Given the description of an element on the screen output the (x, y) to click on. 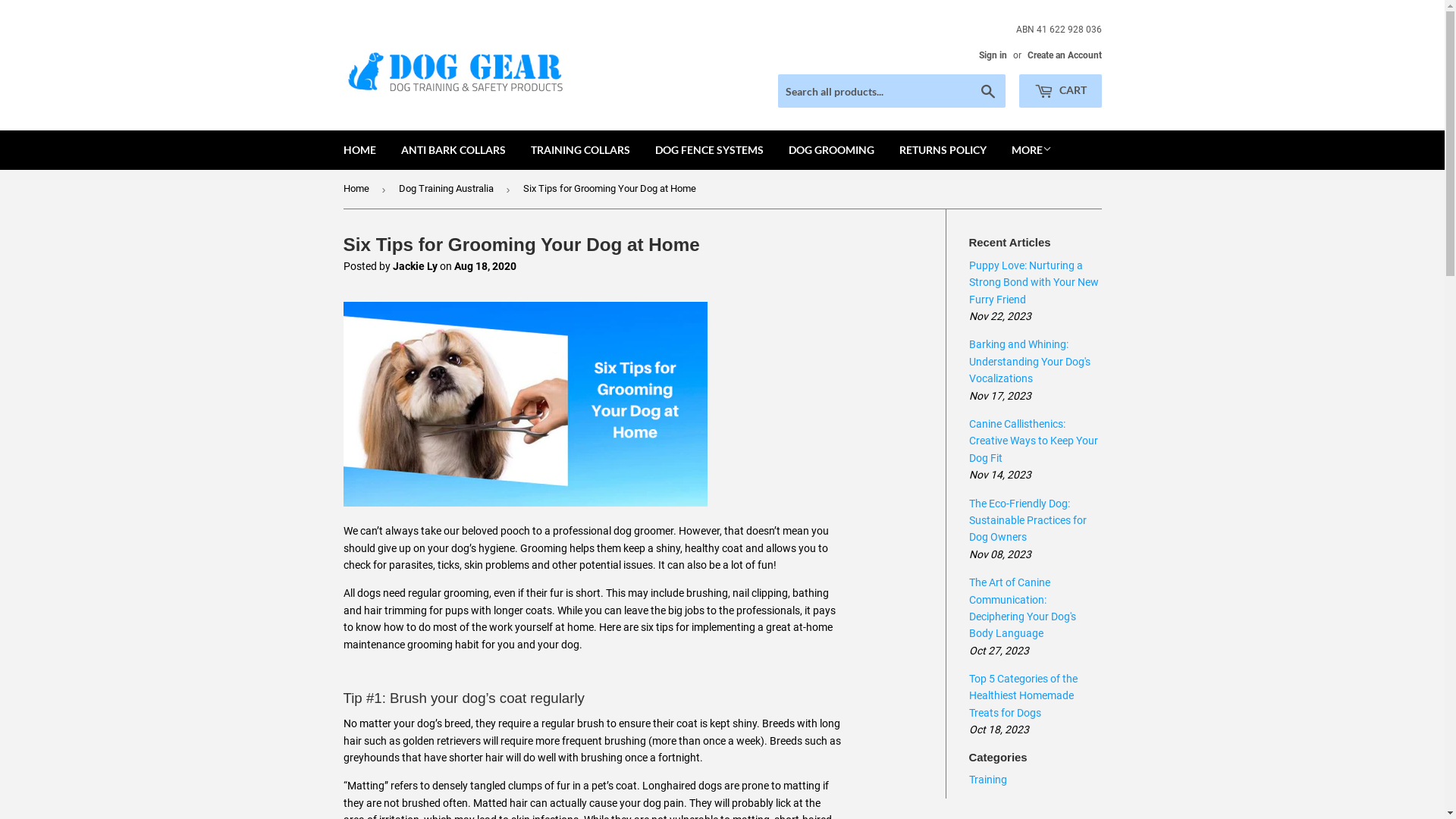
CART Element type: text (1060, 90)
Barking and Whining: Understanding Your Dog's Vocalizations Element type: text (1029, 361)
Sign in Element type: text (992, 55)
The Eco-Friendly Dog: Sustainable Practices for Dog Owners Element type: text (1027, 520)
Home Element type: text (357, 188)
ANTI BARK COLLARS Element type: text (453, 149)
Top 5 Categories of the Healthiest Homemade Treats for Dogs Element type: text (1023, 695)
Create an Account Element type: text (1063, 55)
MORE Element type: text (1030, 149)
Dog Training Australia Element type: text (448, 188)
DOG FENCE SYSTEMS Element type: text (708, 149)
HOME Element type: text (359, 149)
DOG GROOMING Element type: text (830, 149)
Canine Callisthenics: Creative Ways to Keep Your Dog Fit Element type: text (1033, 440)
Search Element type: text (987, 91)
TRAINING COLLARS Element type: text (579, 149)
Training Element type: text (988, 779)
RETURNS POLICY Element type: text (942, 149)
